Given the description of an element on the screen output the (x, y) to click on. 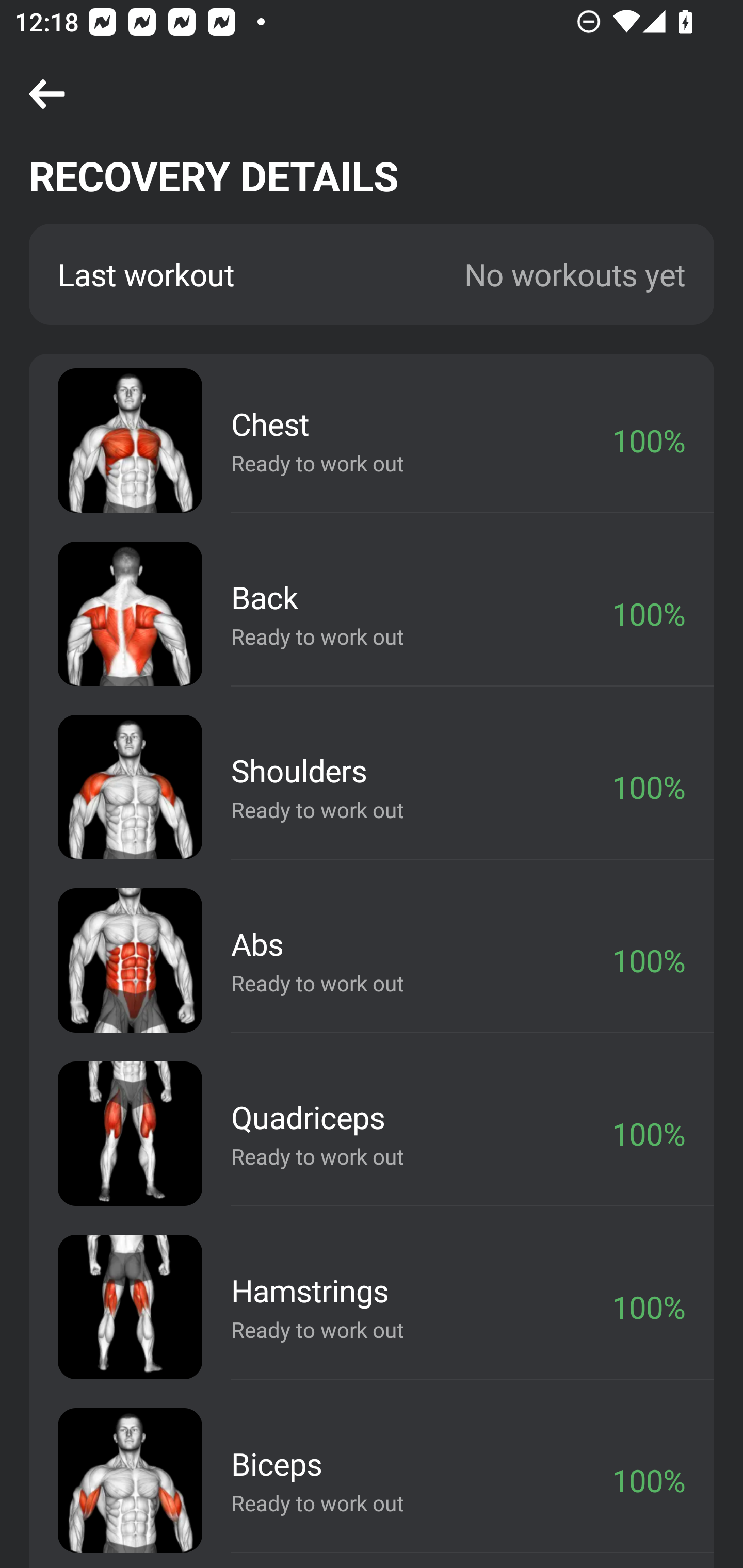
Navigation icon (46, 94)
